Given the description of an element on the screen output the (x, y) to click on. 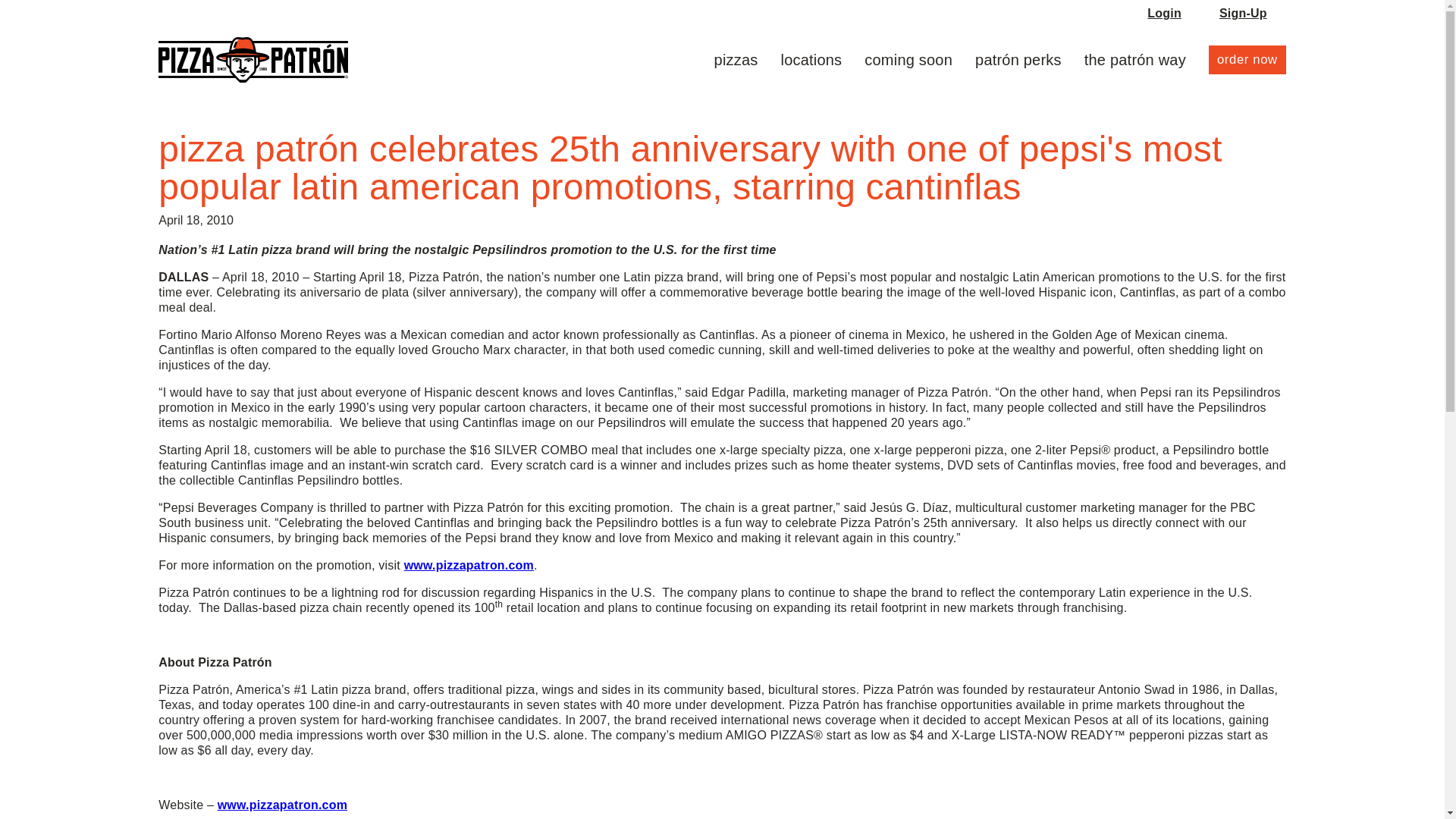
coming soon (908, 59)
locations (811, 59)
pizzas (736, 59)
Sign-Up (1243, 13)
www.pizzapatron.com (281, 804)
Login (1163, 13)
order now (1246, 59)
www.pizzapatron.com (469, 564)
